Given the description of an element on the screen output the (x, y) to click on. 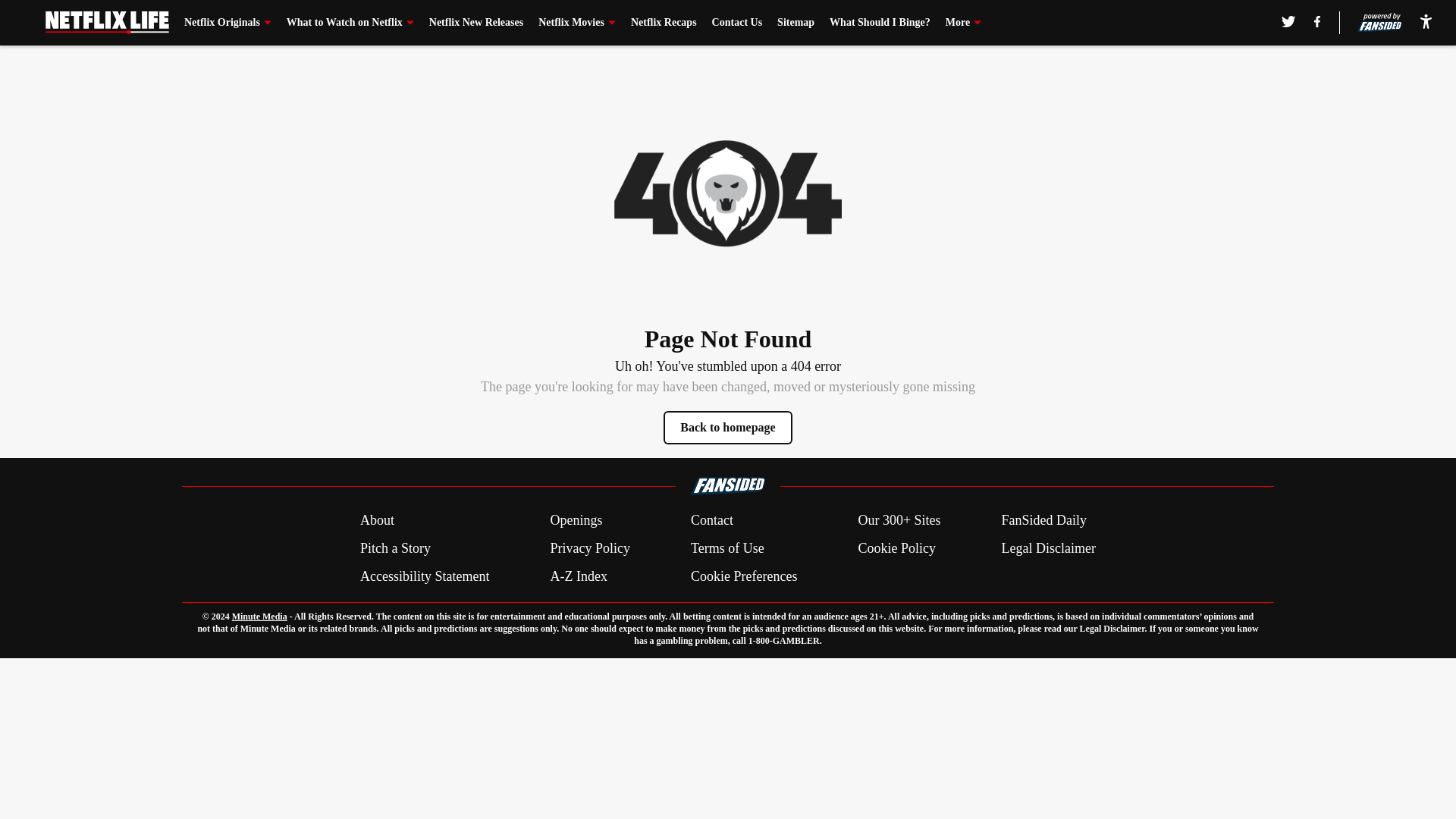
Netflix Originals (227, 22)
Netflix Movies (576, 22)
Netflix New Releases (475, 22)
What to Watch on Netflix (349, 22)
Error image (727, 193)
